Given the description of an element on the screen output the (x, y) to click on. 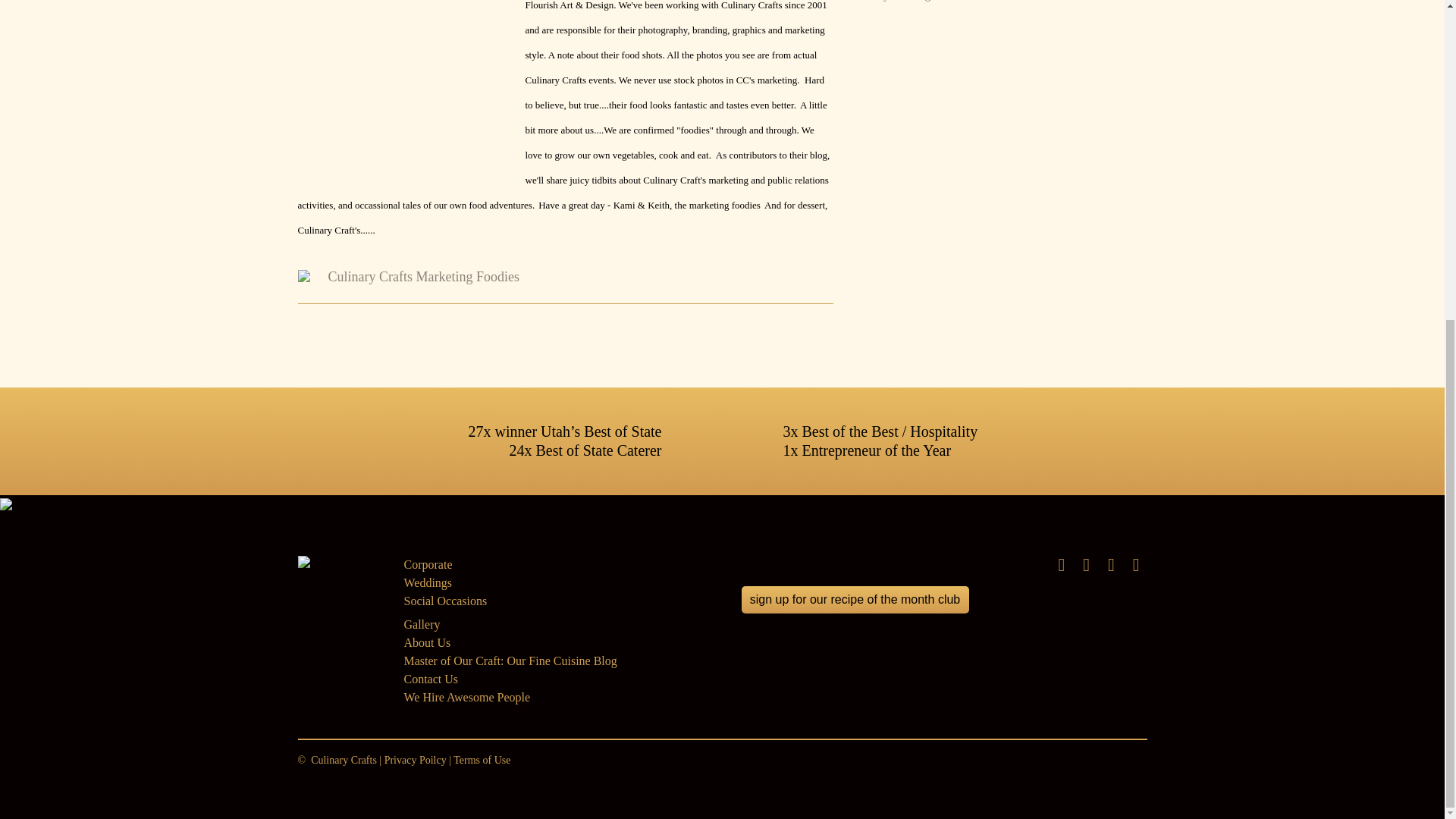
Culinary Crafts Marketing Foodies (422, 276)
